Given the description of an element on the screen output the (x, y) to click on. 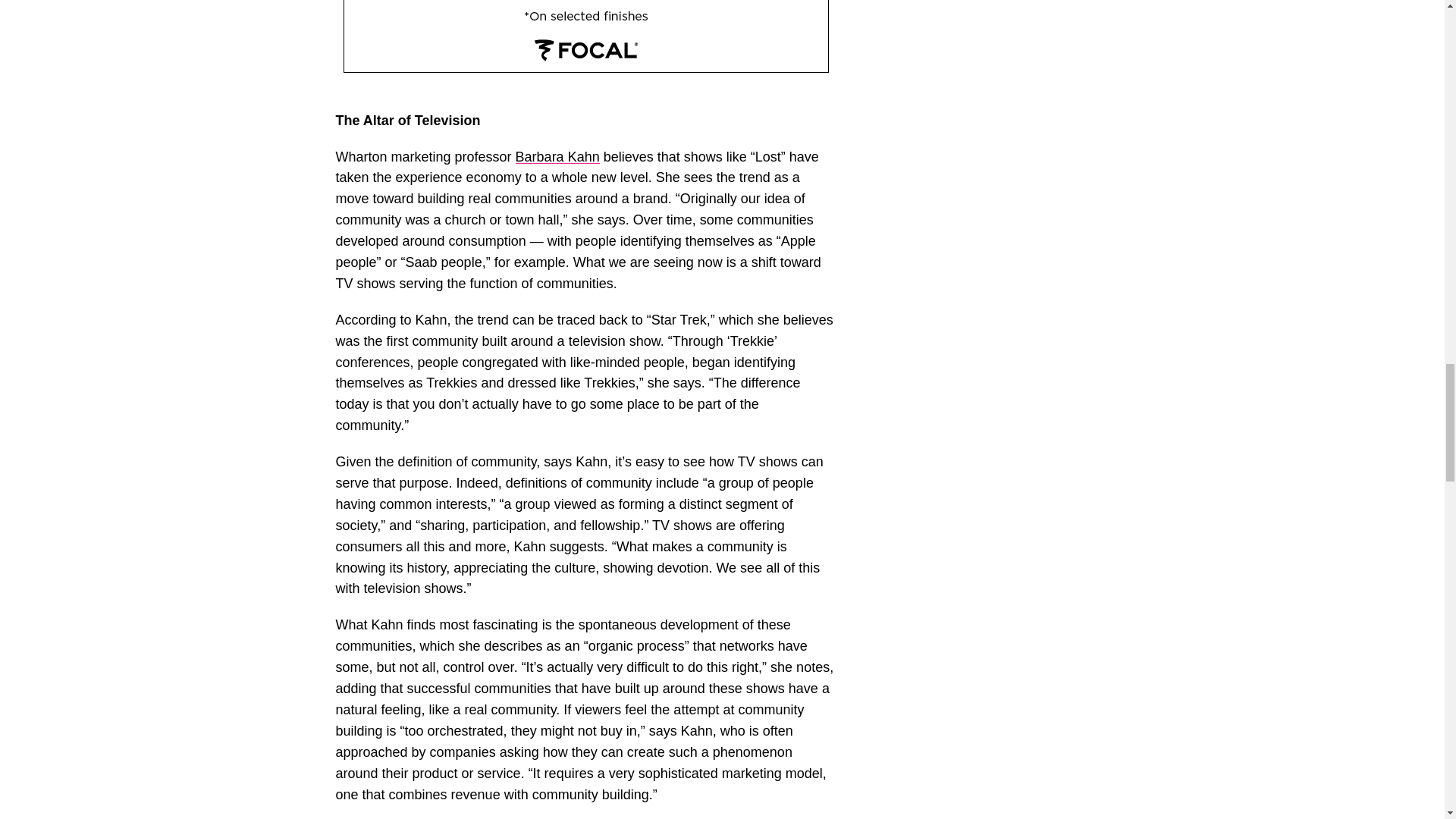
3rd party ad content (585, 36)
